Given the description of an element on the screen output the (x, y) to click on. 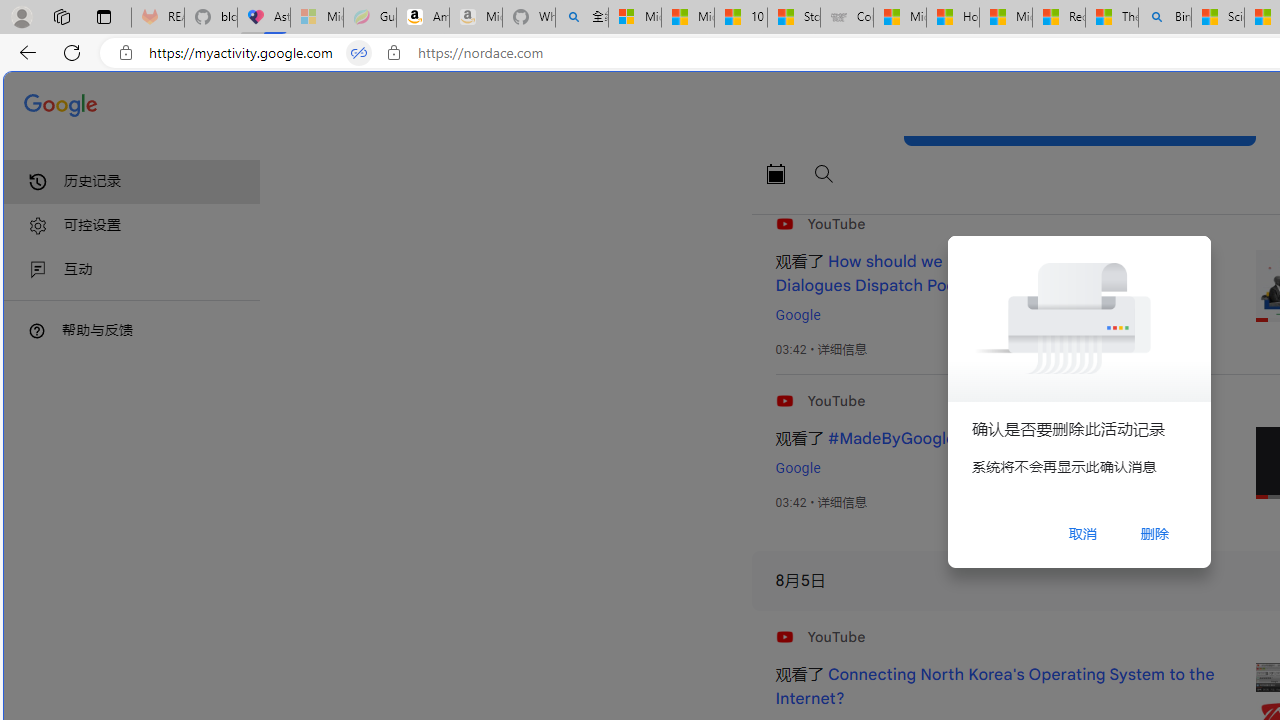
Class: DTiKkd NMm5M (37, 330)
Class: i2GIId (38, 269)
